Given the description of an element on the screen output the (x, y) to click on. 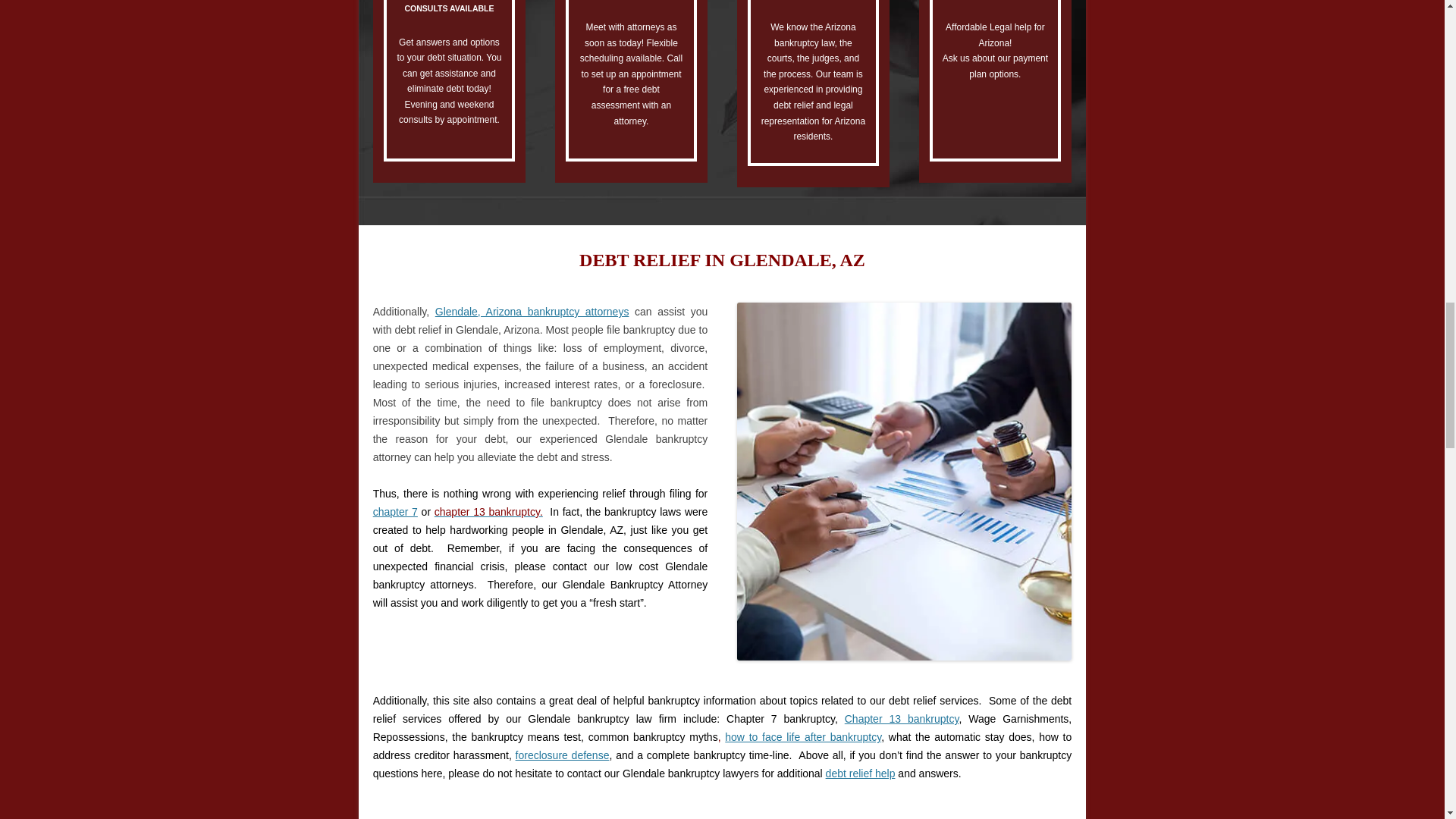
chapter 13 bankruptcy. (488, 511)
Glendale, Arizona bankruptcy attorneys (531, 311)
chapter 7 (394, 511)
how to face life after bankruptcy (802, 736)
About Us (531, 311)
Chapter 13 bankruptcy (901, 718)
Life After Bankruptcy in Glendale, Arizona (802, 736)
Filing Chapter 13 in Glendale (901, 718)
Chapter 13 Bankruptcy Lawyers in Glendale (488, 511)
Chapter 7 Bankruptcy Lawyers in Glendale (394, 511)
